Given the description of an element on the screen output the (x, y) to click on. 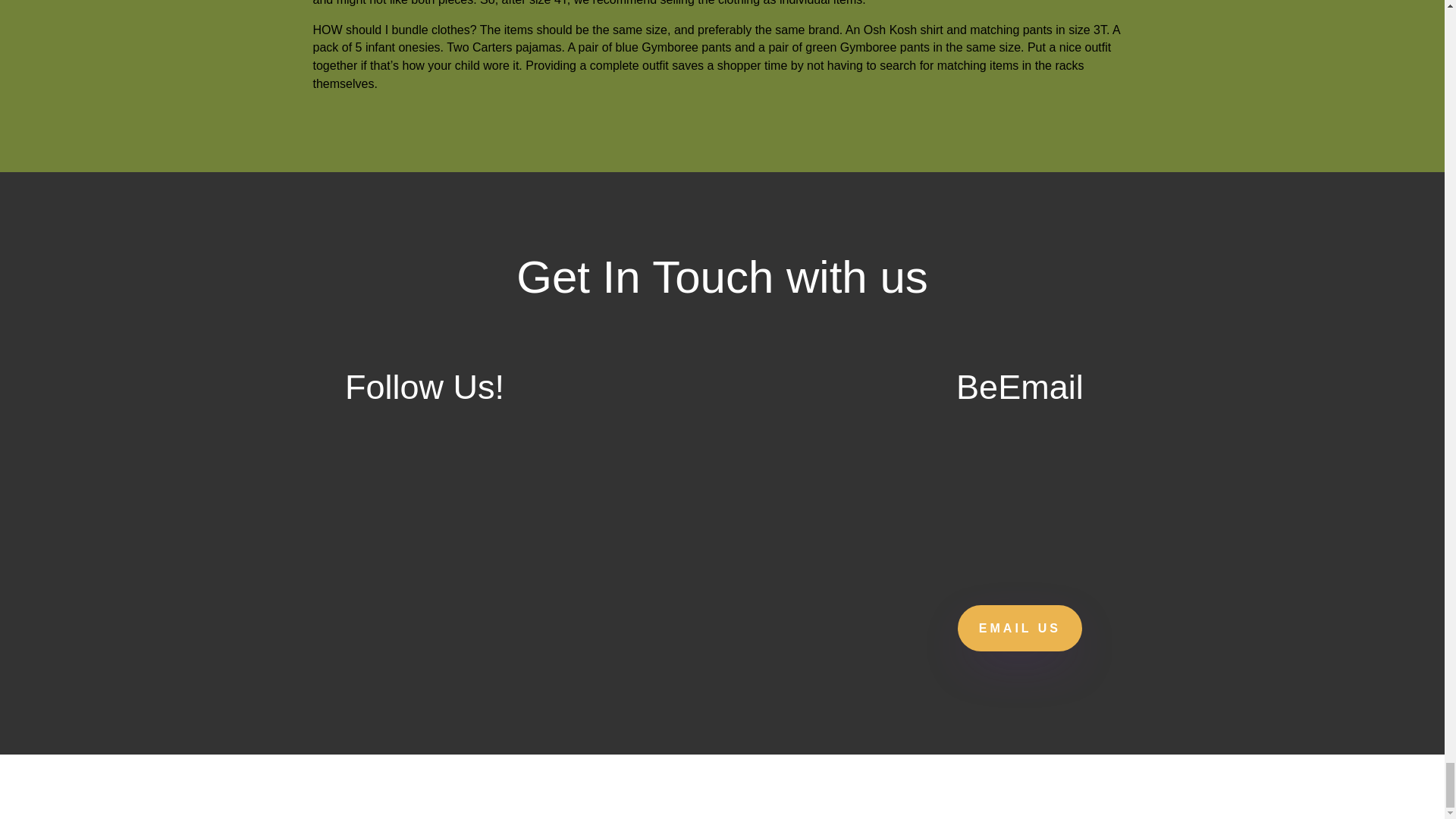
Sunflower Facebook Logo (425, 492)
EMAIL US (1019, 628)
